Given the description of an element on the screen output the (x, y) to click on. 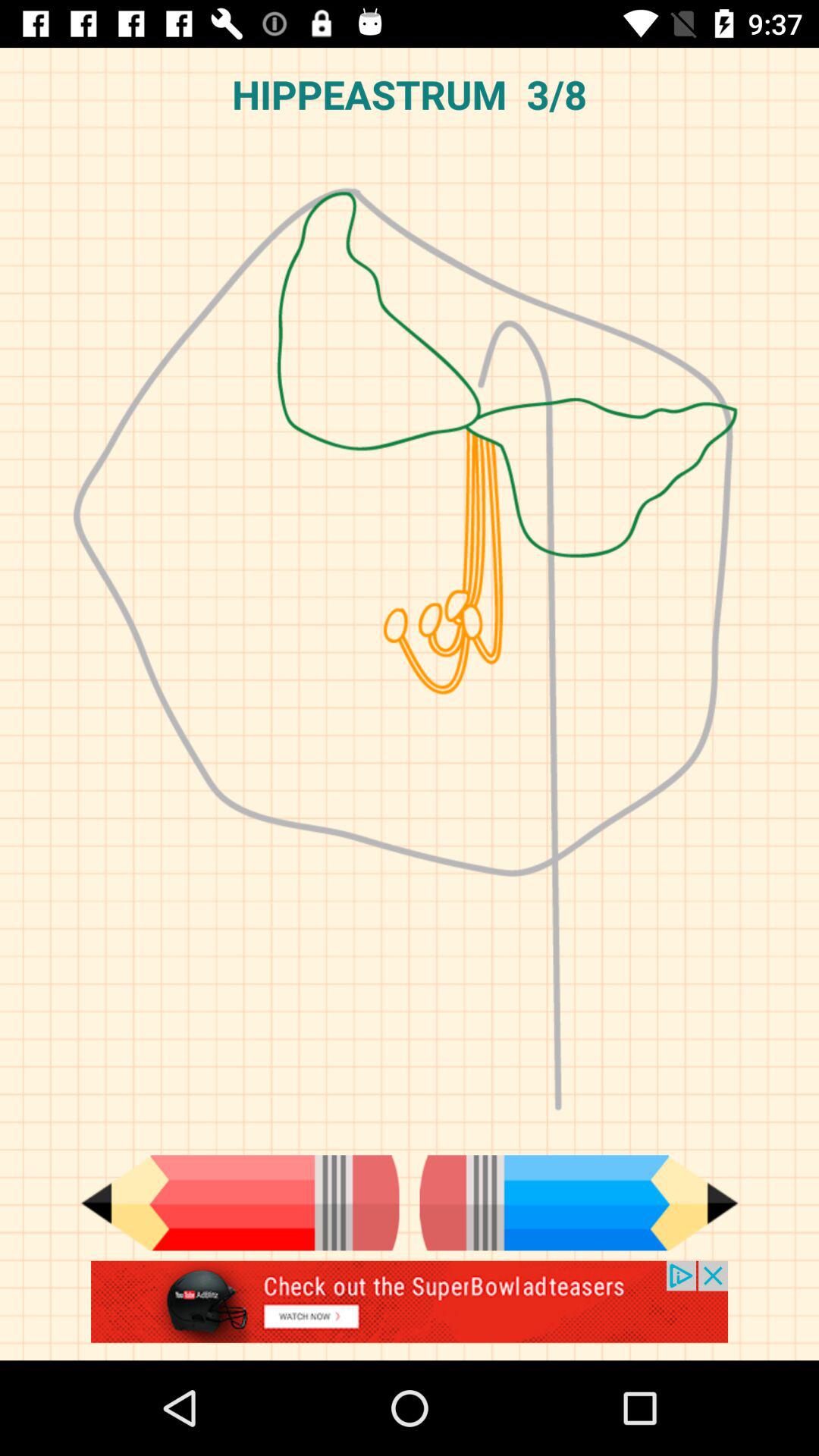
advertisement (409, 1310)
